Given the description of an element on the screen output the (x, y) to click on. 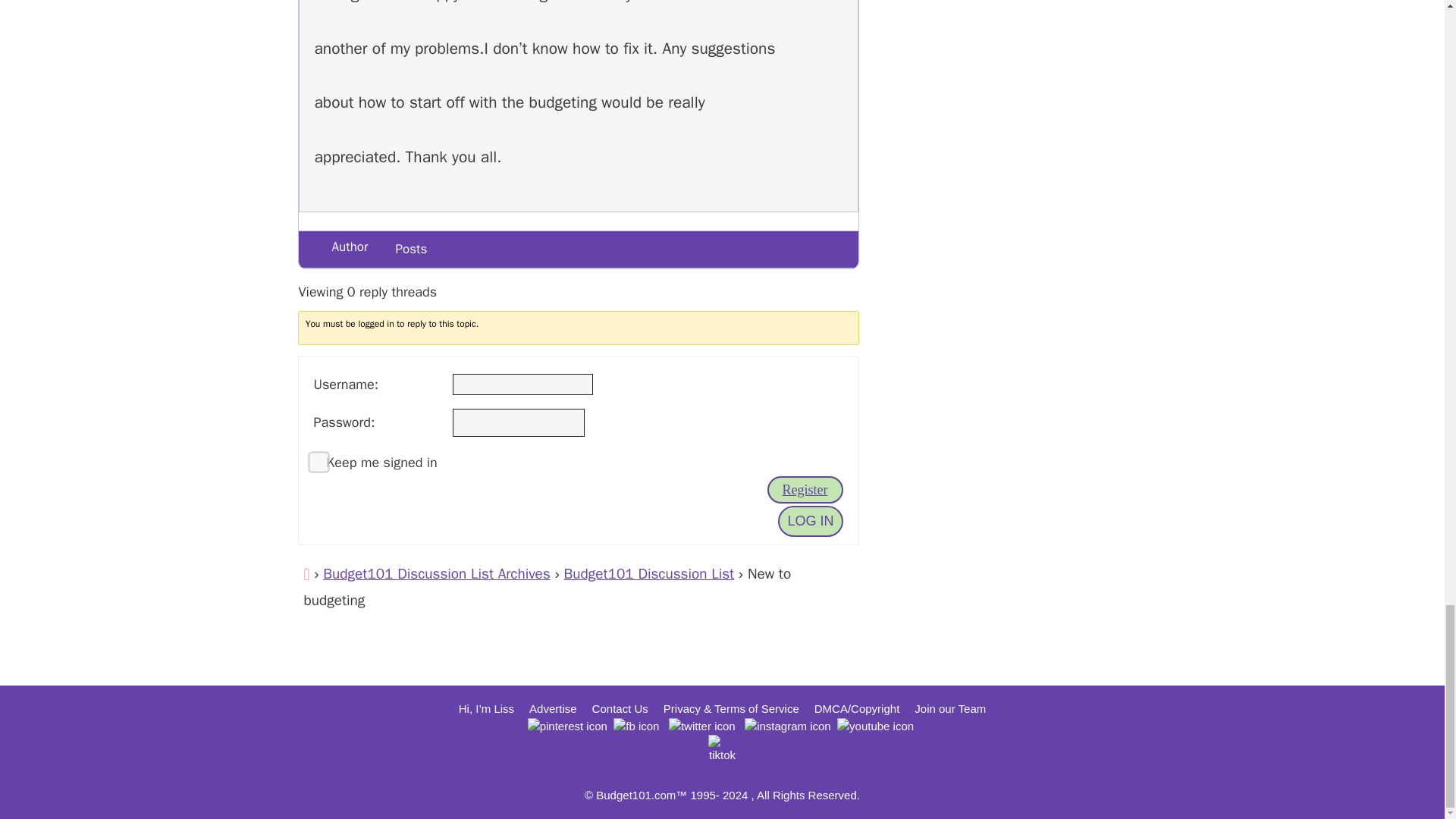
twitter icon (701, 726)
fb icon (635, 726)
tiktok (721, 748)
pinterest icon (567, 726)
instagram icon (787, 726)
forever (312, 456)
youtube icon (875, 726)
